Given the description of an element on the screen output the (x, y) to click on. 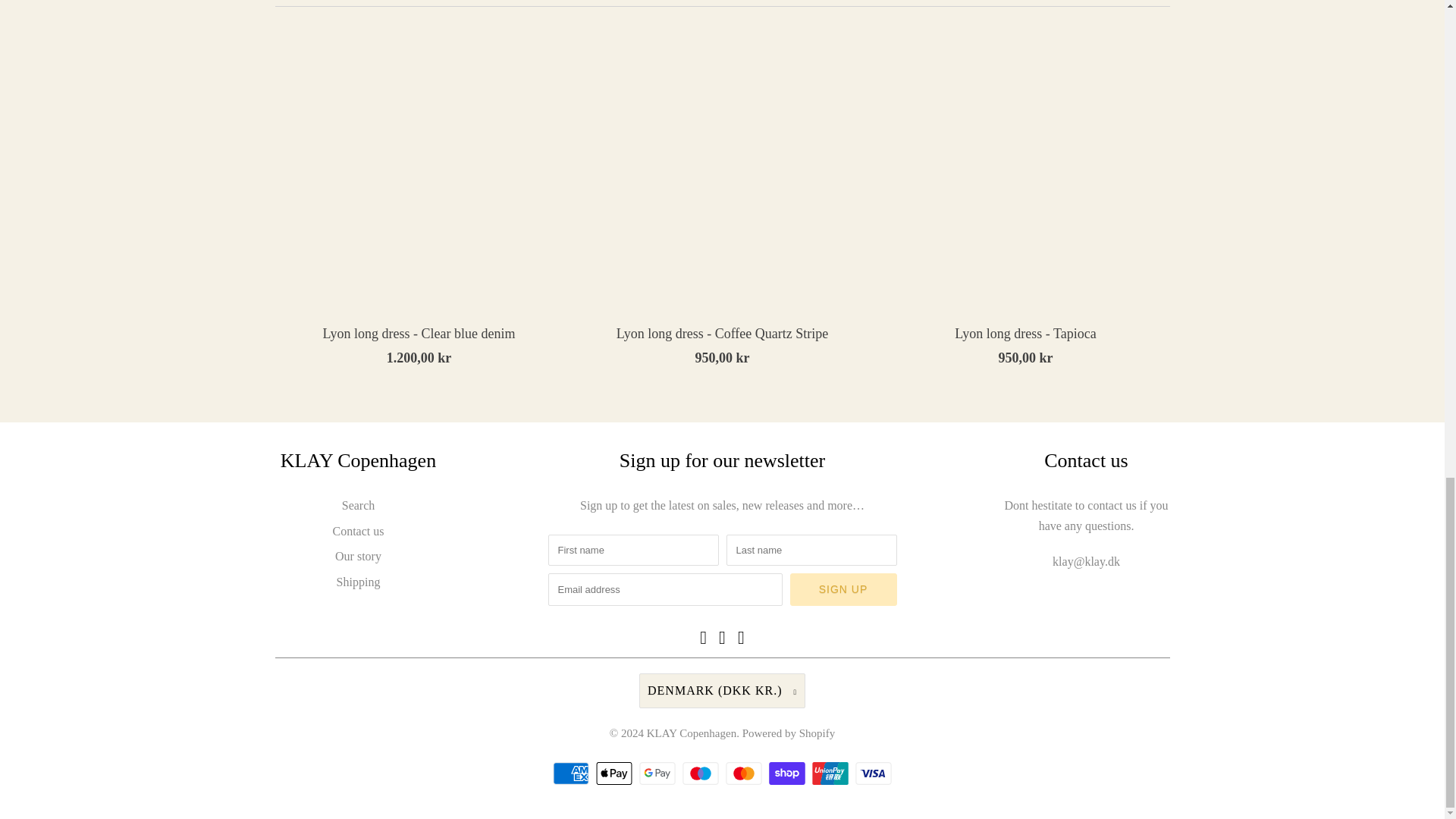
Union Pay (831, 773)
Apple Pay (615, 773)
Mastercard (745, 773)
Shop Pay (788, 773)
Sign Up (843, 589)
American Express (572, 773)
Visa (873, 773)
Google Pay (659, 773)
Maestro (702, 773)
